Given the description of an element on the screen output the (x, y) to click on. 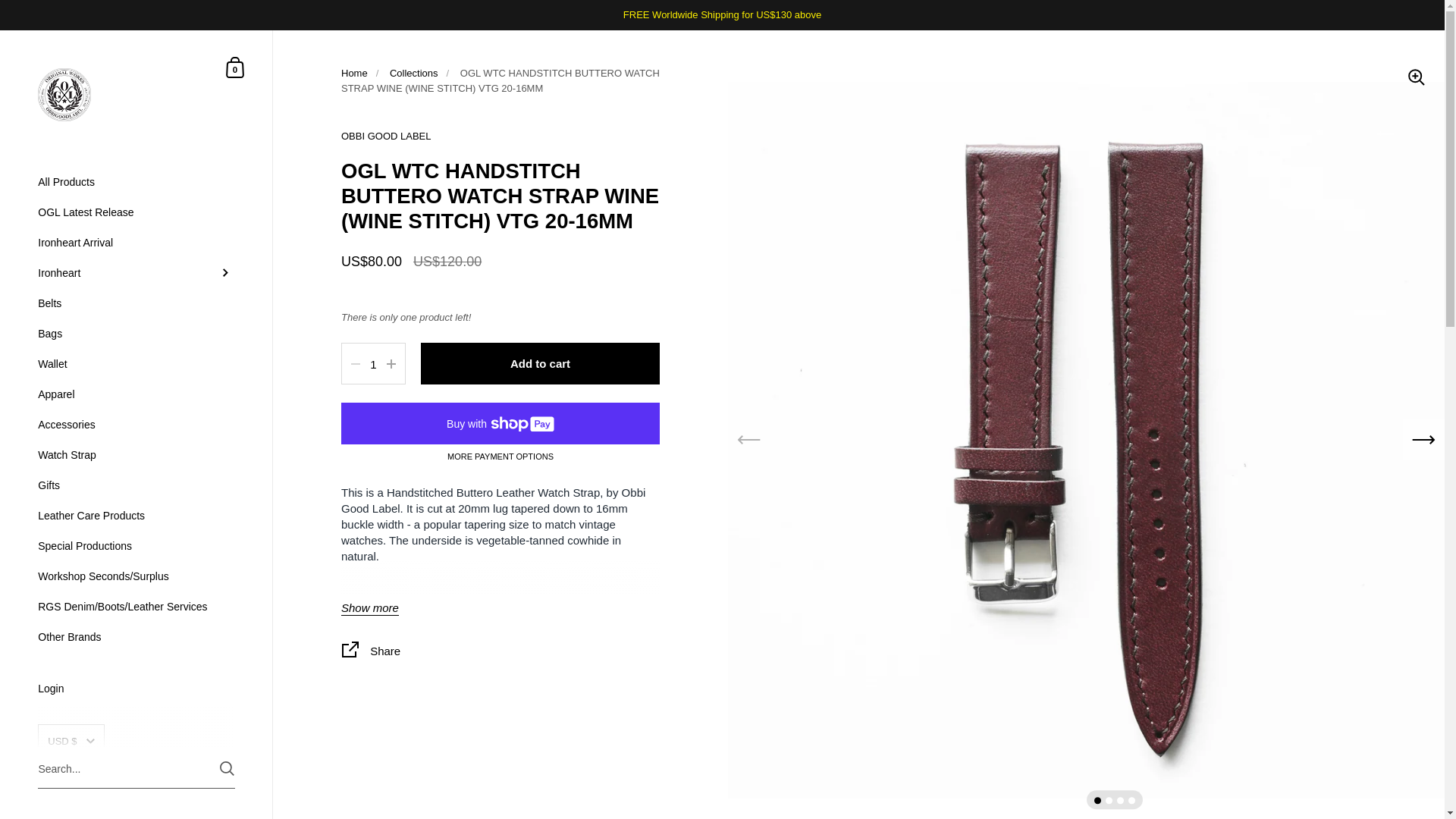
1 (373, 363)
Ironheart (136, 272)
Other Brands (136, 636)
Apparel (136, 394)
Shopping Cart (235, 66)
Special Productions (136, 545)
Login (136, 689)
Ironheart Arrival (136, 242)
Accessories (136, 424)
Watch Strap (136, 454)
Skip to content (235, 66)
All Products (136, 212)
Leather Care Products (136, 182)
